Given the description of an element on the screen output the (x, y) to click on. 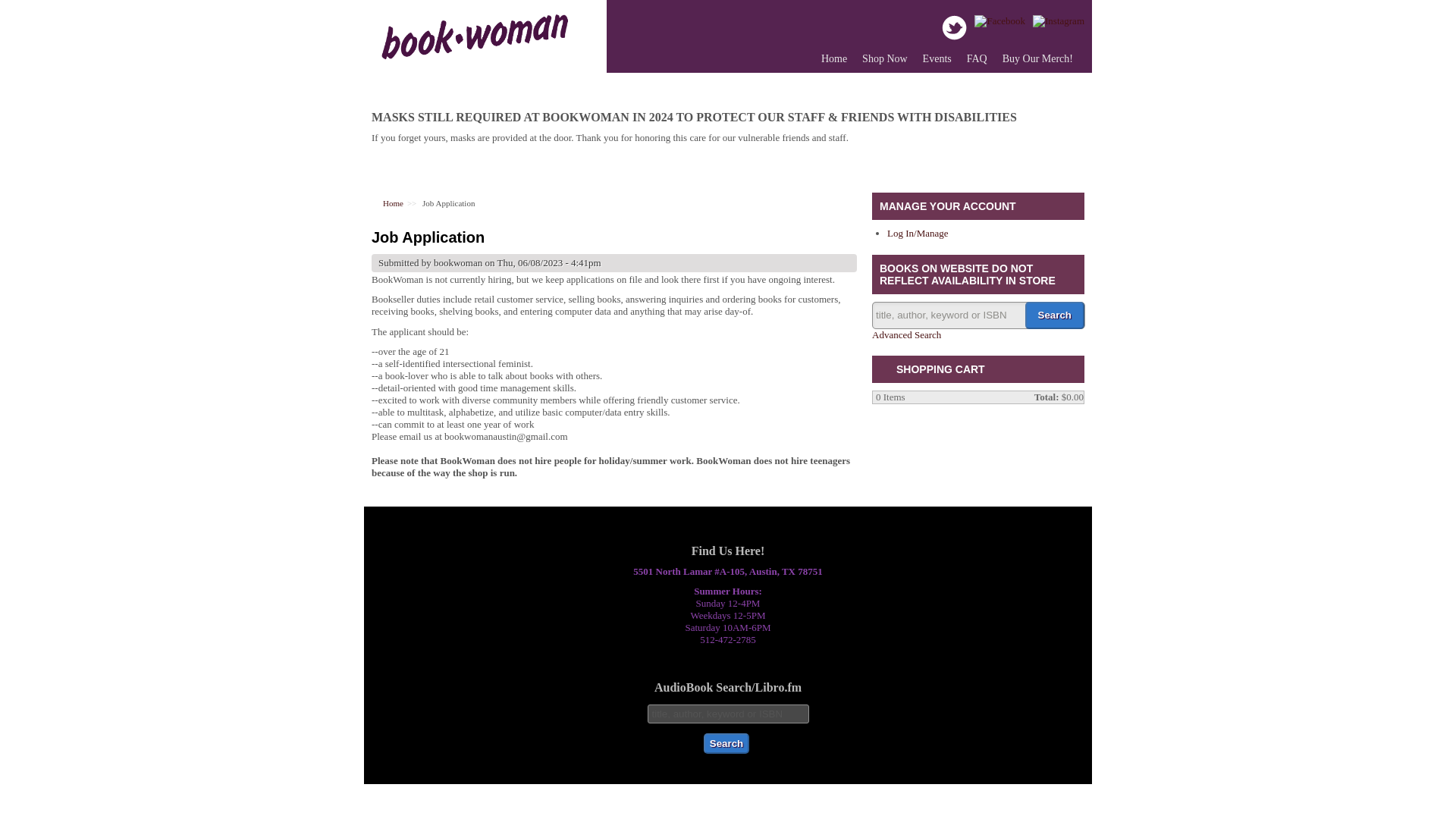
Home (473, 61)
FAQ (976, 58)
Home (392, 203)
Search (1054, 315)
title, author, keyword or ISBN (728, 713)
Search (1054, 315)
View your shopping cart. (885, 370)
Advanced Search (906, 334)
Enter title, author, keyword or ISBN. (728, 713)
Buy Our Merch! (1037, 58)
Search (726, 743)
Shop Now (884, 58)
Events (937, 58)
Search (726, 743)
